Given the description of an element on the screen output the (x, y) to click on. 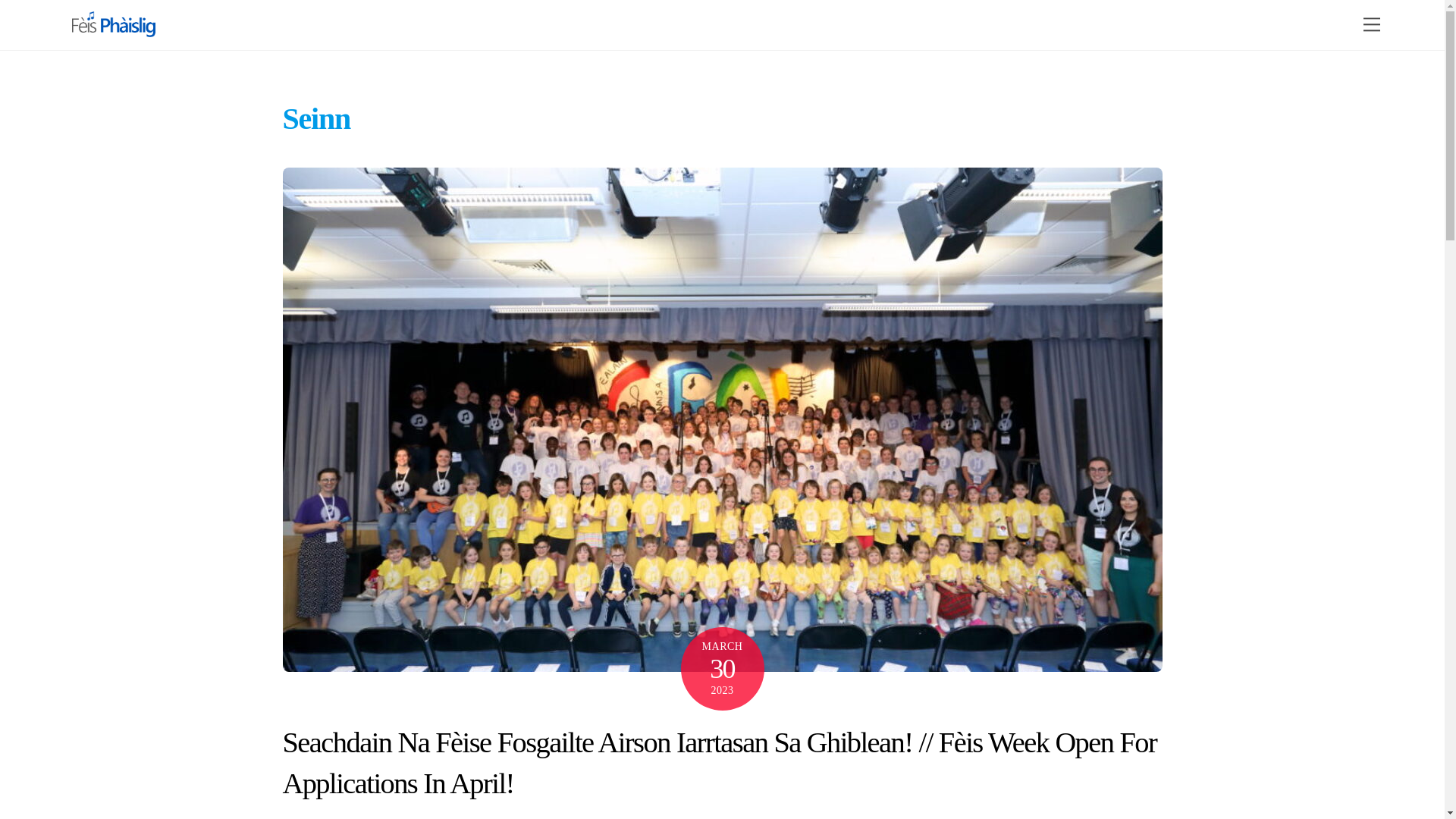
Menu (1371, 24)
